Given the description of an element on the screen output the (x, y) to click on. 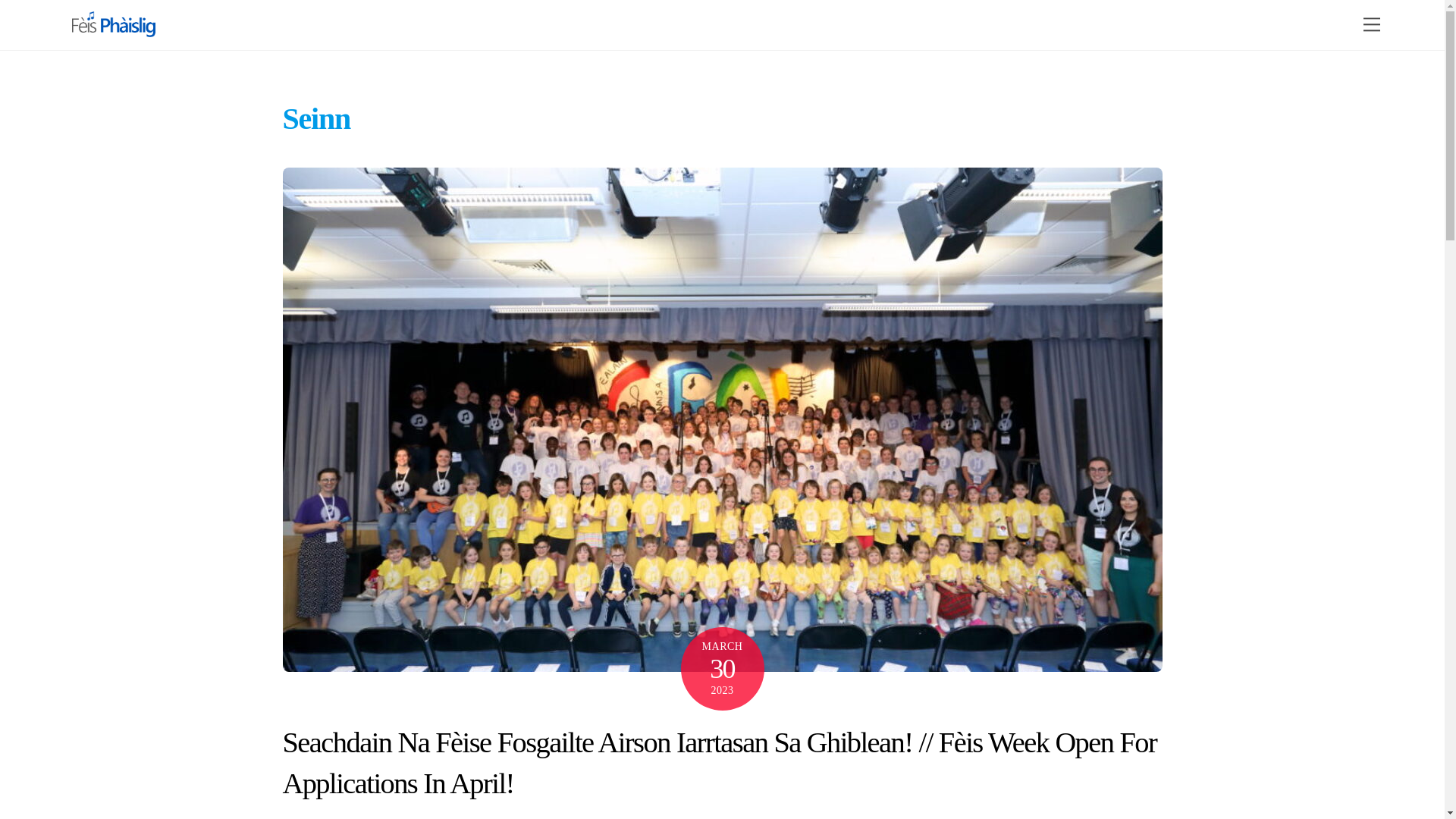
Menu (1371, 24)
